Given the description of an element on the screen output the (x, y) to click on. 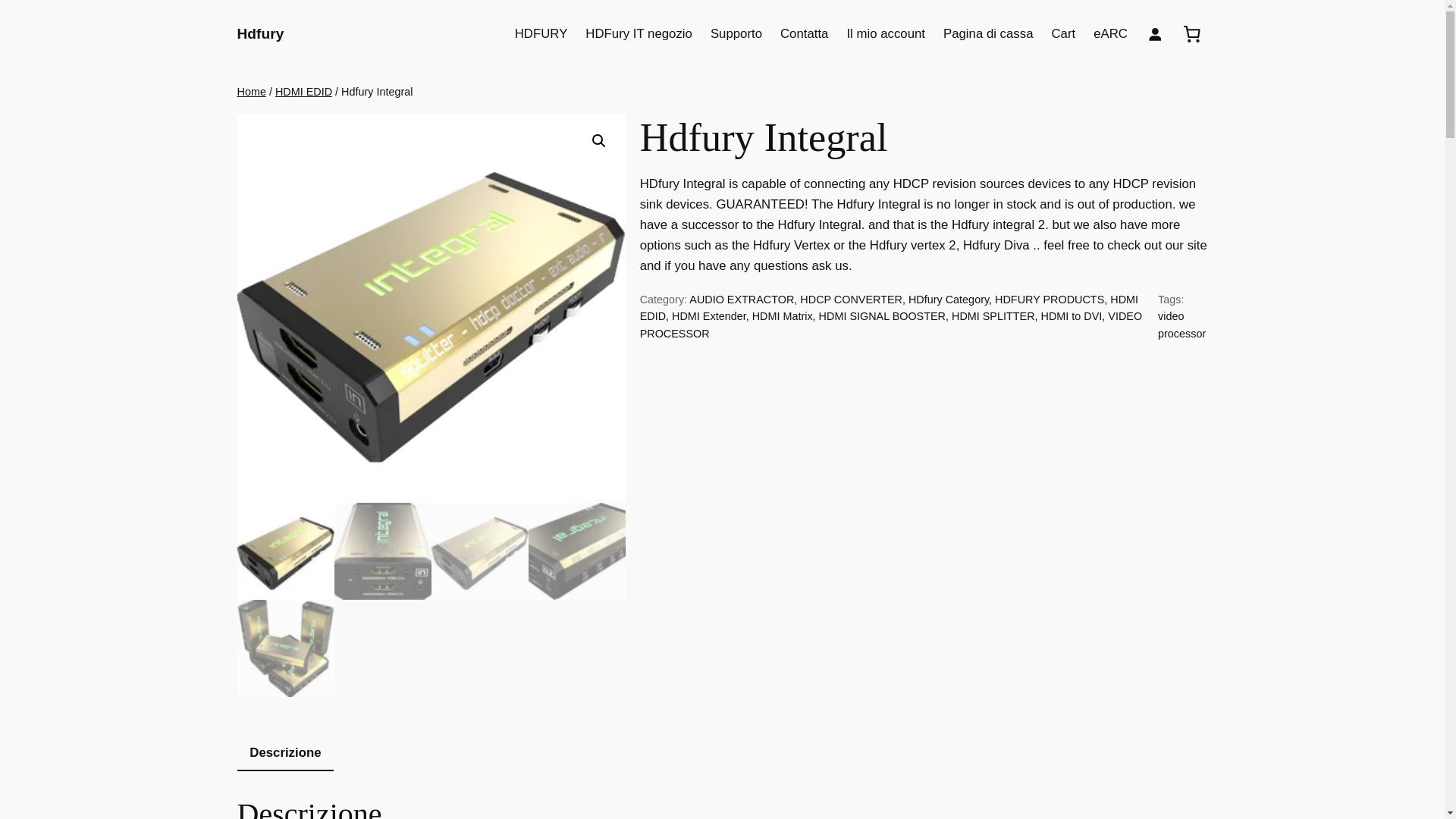
Cart (1063, 34)
HDfury Category (948, 299)
Il mio account (884, 34)
HDFURY (541, 34)
video processor (1181, 324)
HDMI SIGNAL BOOSTER (881, 316)
HDCP CONVERTER (850, 299)
HDFury IT negozio (639, 34)
Descrizione (284, 753)
